Given the description of an element on the screen output the (x, y) to click on. 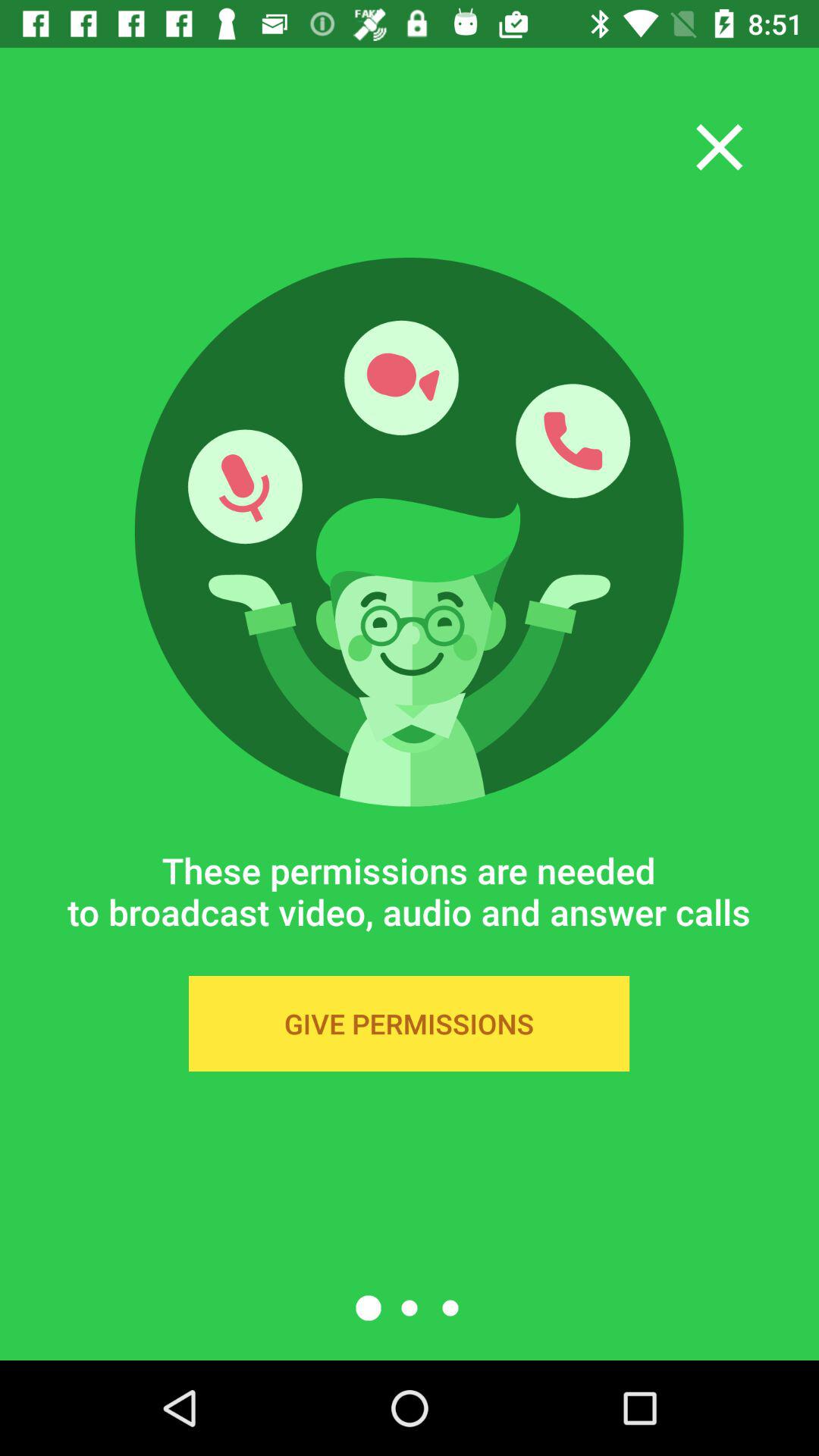
flip to the give permissions icon (408, 1023)
